Given the description of an element on the screen output the (x, y) to click on. 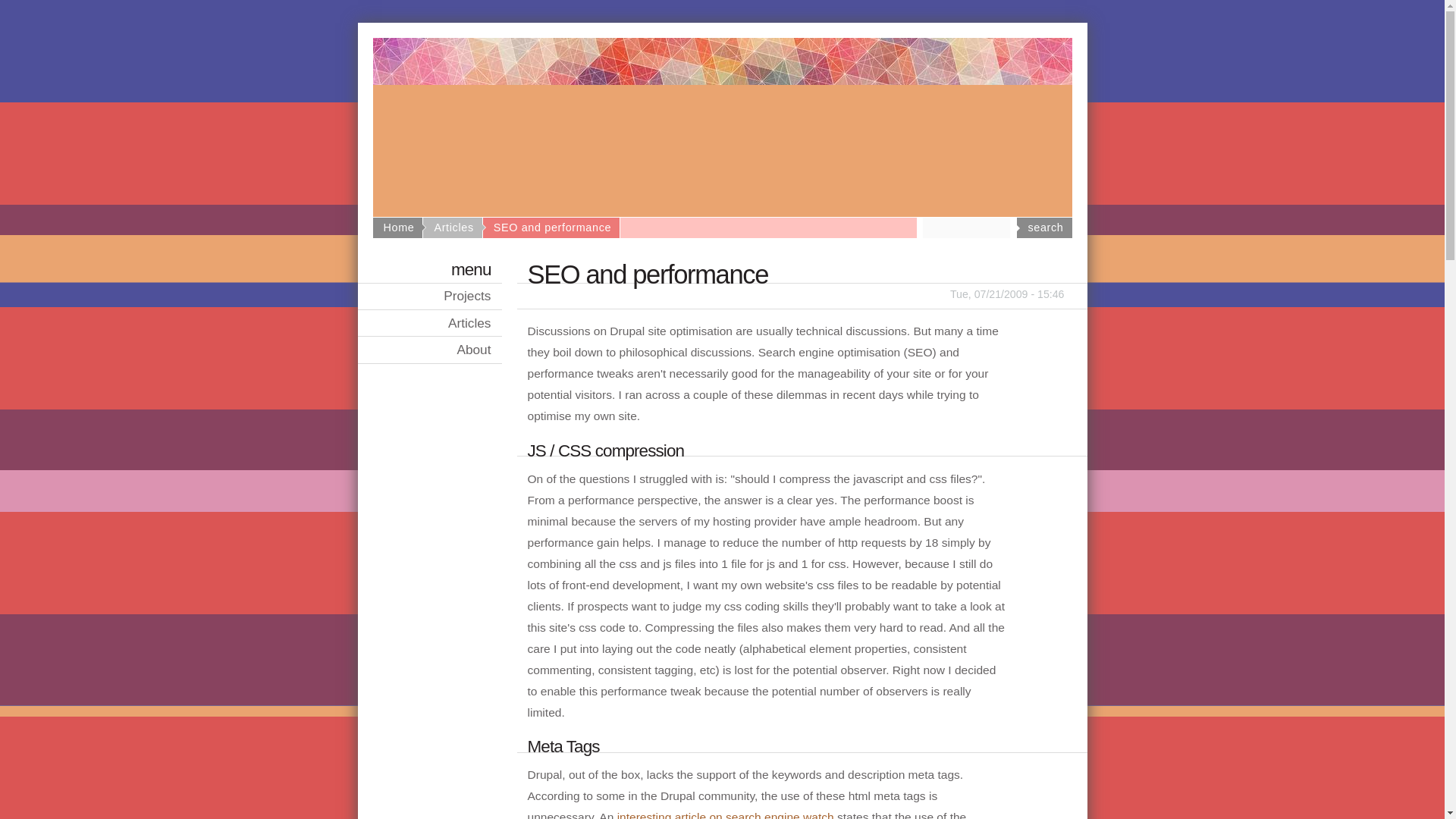
About (430, 349)
Search (1043, 227)
Home (399, 227)
Search (1043, 227)
Articles (453, 227)
Articles (430, 323)
Code Culture (721, 183)
Home (721, 183)
Search (1043, 227)
